Given the description of an element on the screen output the (x, y) to click on. 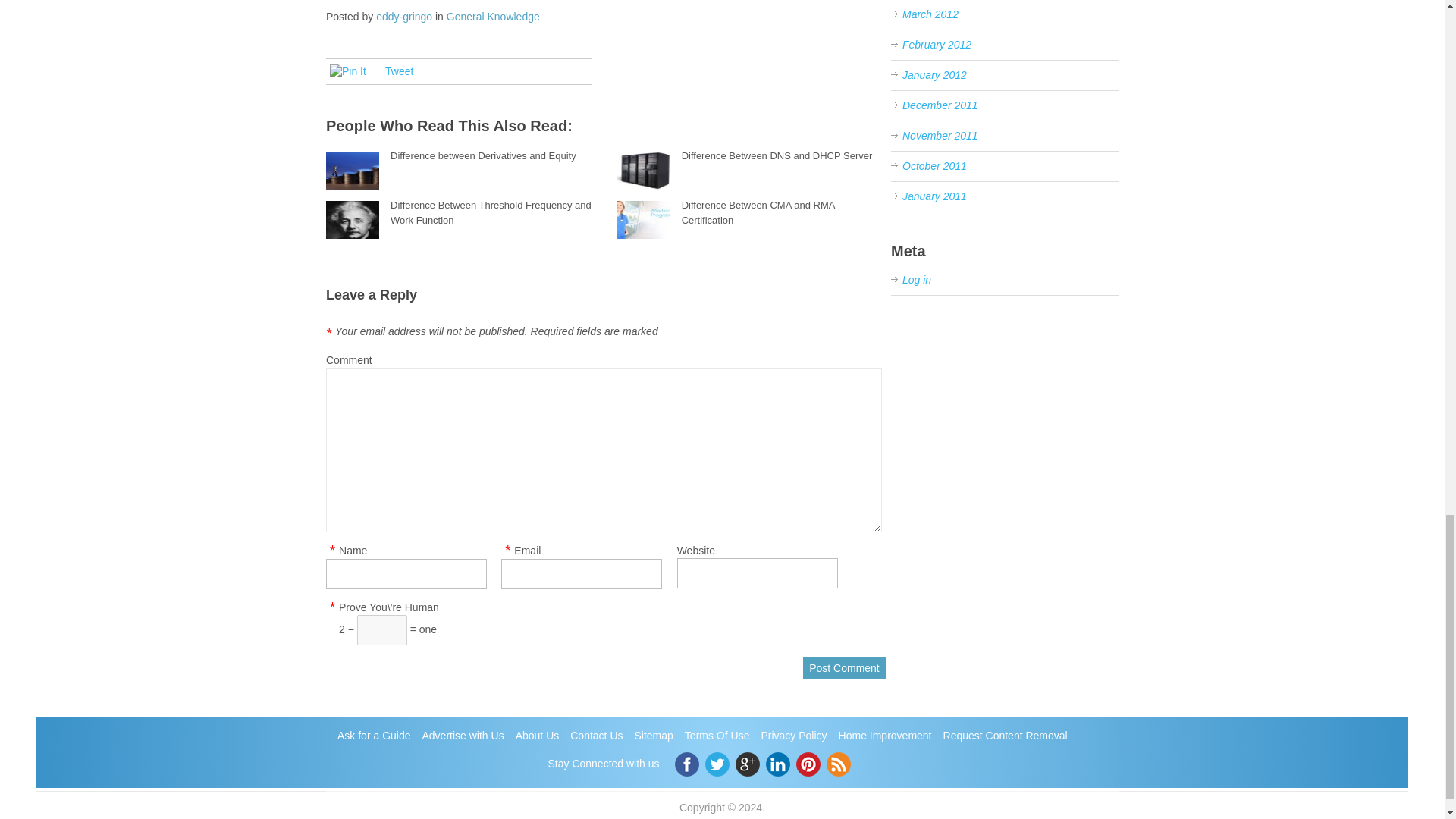
eddy-gringo (403, 16)
General Knowledge (493, 16)
Difference Between DNS and DHCP Server (776, 155)
Post Comment (844, 667)
Tweet (399, 70)
Difference Between CMA and RMA Certification (757, 212)
Difference between Derivatives and Equity (483, 155)
Post Comment (844, 667)
Difference Between Threshold Frequency and Work Function (490, 212)
